Given the description of an element on the screen output the (x, y) to click on. 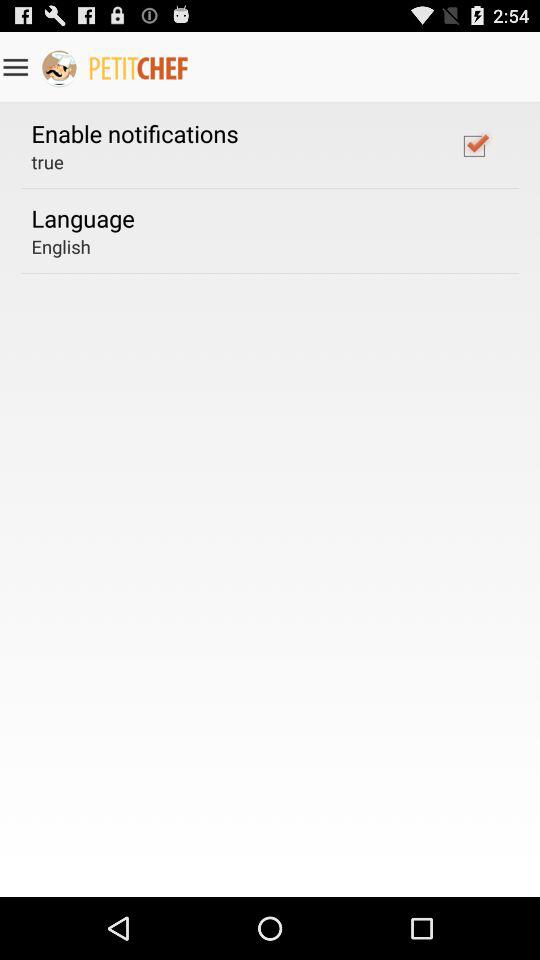
choose app below the language (60, 246)
